Given the description of an element on the screen output the (x, y) to click on. 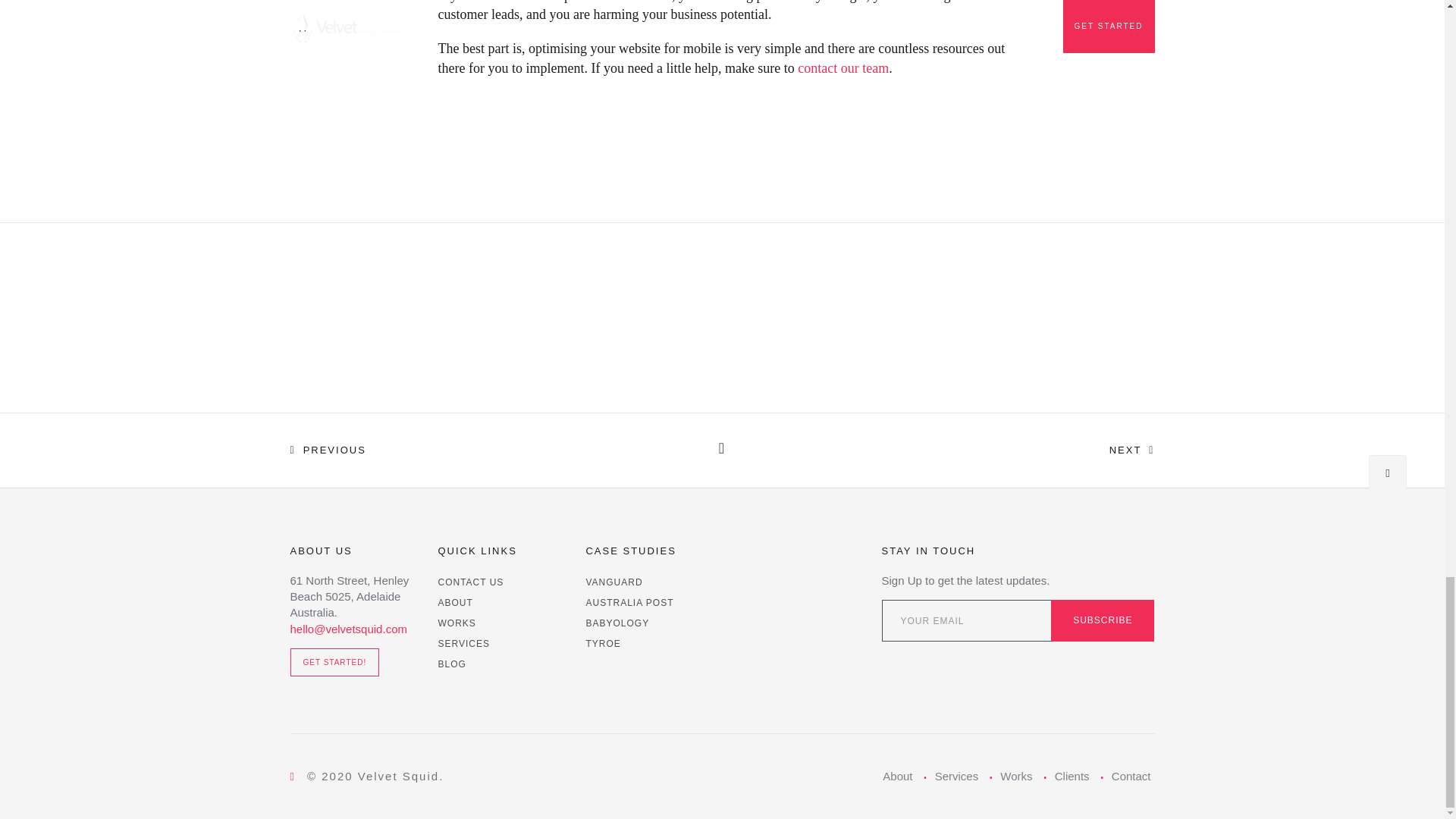
SERVICES (463, 643)
CONTACT US (470, 582)
BLOG (451, 664)
WORKS (457, 623)
Services (956, 775)
SUBSCRIBE (1102, 620)
NEXT (1010, 450)
AUSTRALIA POST (628, 602)
GET STARTED! (333, 662)
About (897, 775)
Works (1016, 775)
TYROE (602, 643)
contact our team (842, 68)
VANGUARD (613, 582)
Contact (1131, 775)
